Given the description of an element on the screen output the (x, y) to click on. 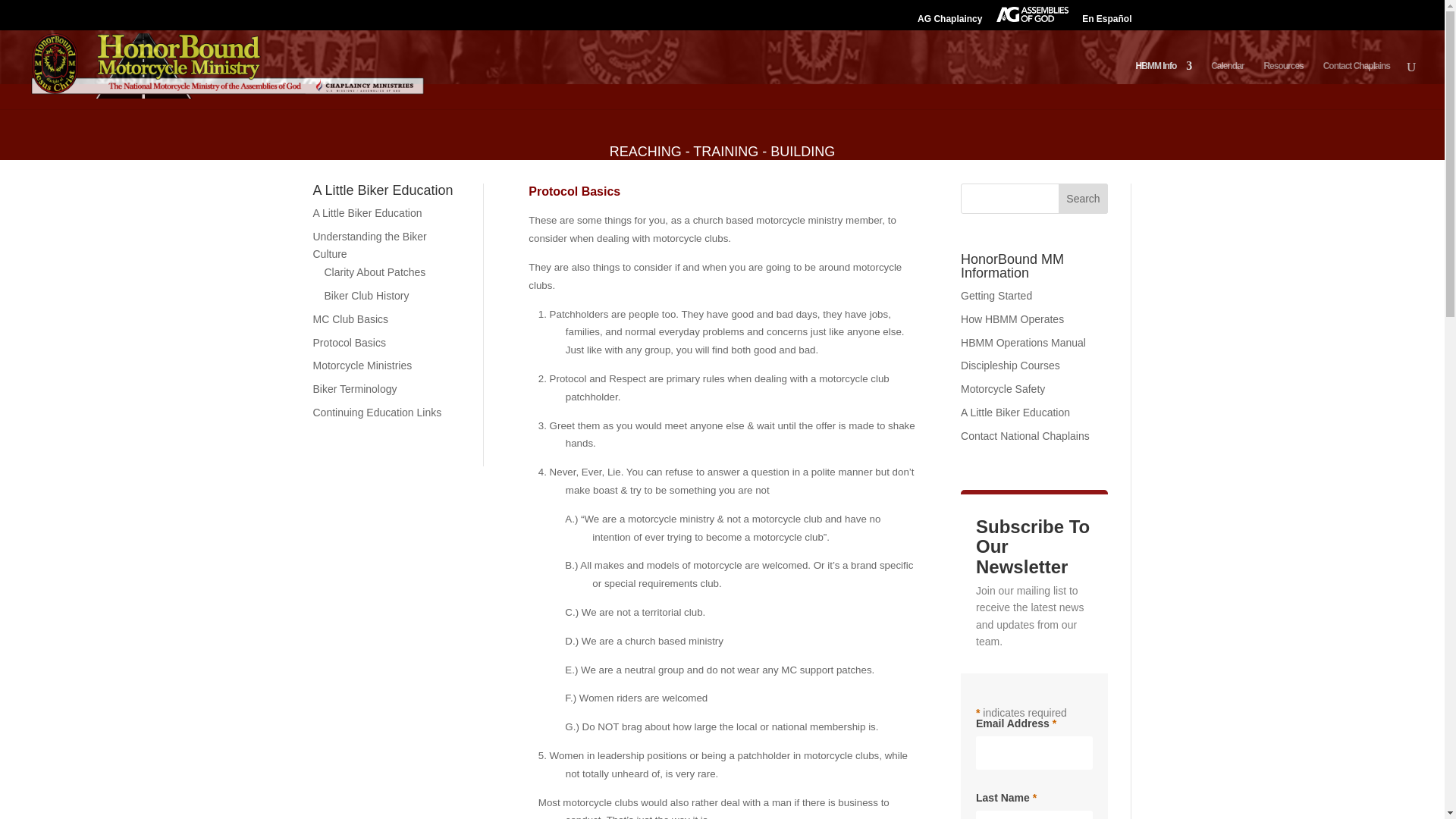
HBMM Info (1163, 84)
Search (1083, 198)
Contact Chaplains (1356, 84)
AG Chaplaincy (949, 22)
